Given the description of an element on the screen output the (x, y) to click on. 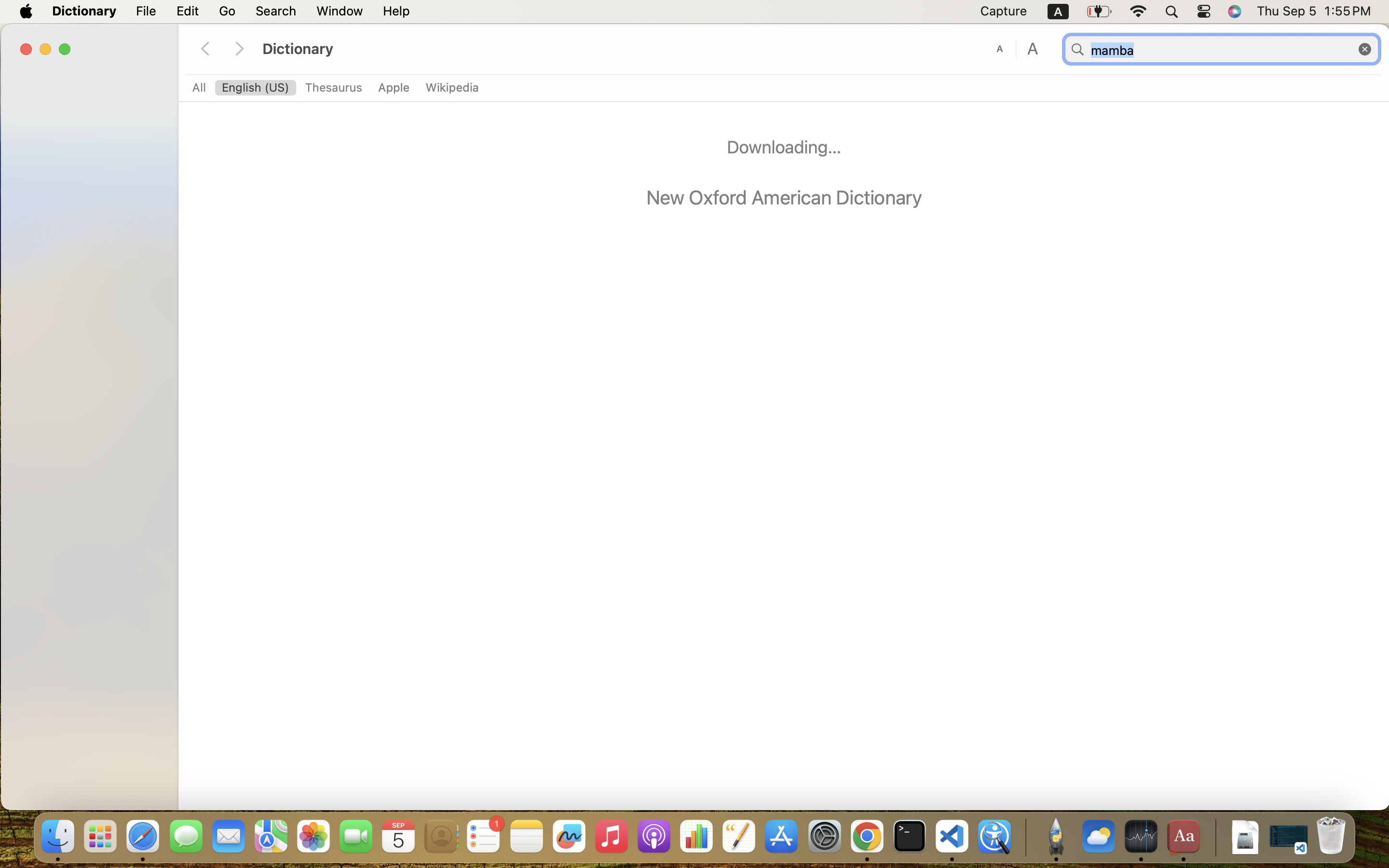
New Oxford American Dictionary Element type: AXStaticText (784, 197)
